Given the description of an element on the screen output the (x, y) to click on. 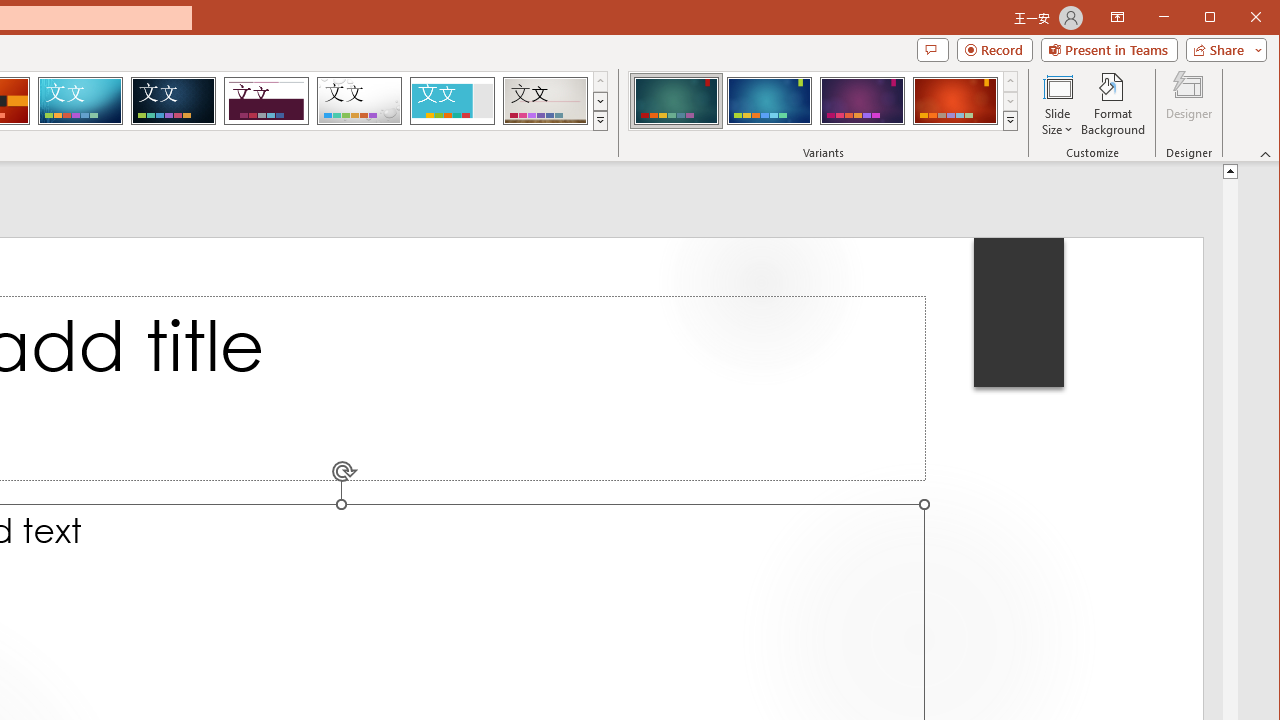
Variants (1010, 120)
Dividend (266, 100)
AutomationID: ThemeVariantsGallery (824, 101)
Ion Variant 2 (769, 100)
Ion Variant 4 (955, 100)
Ion Variant 3 (862, 100)
